Given the description of an element on the screen output the (x, y) to click on. 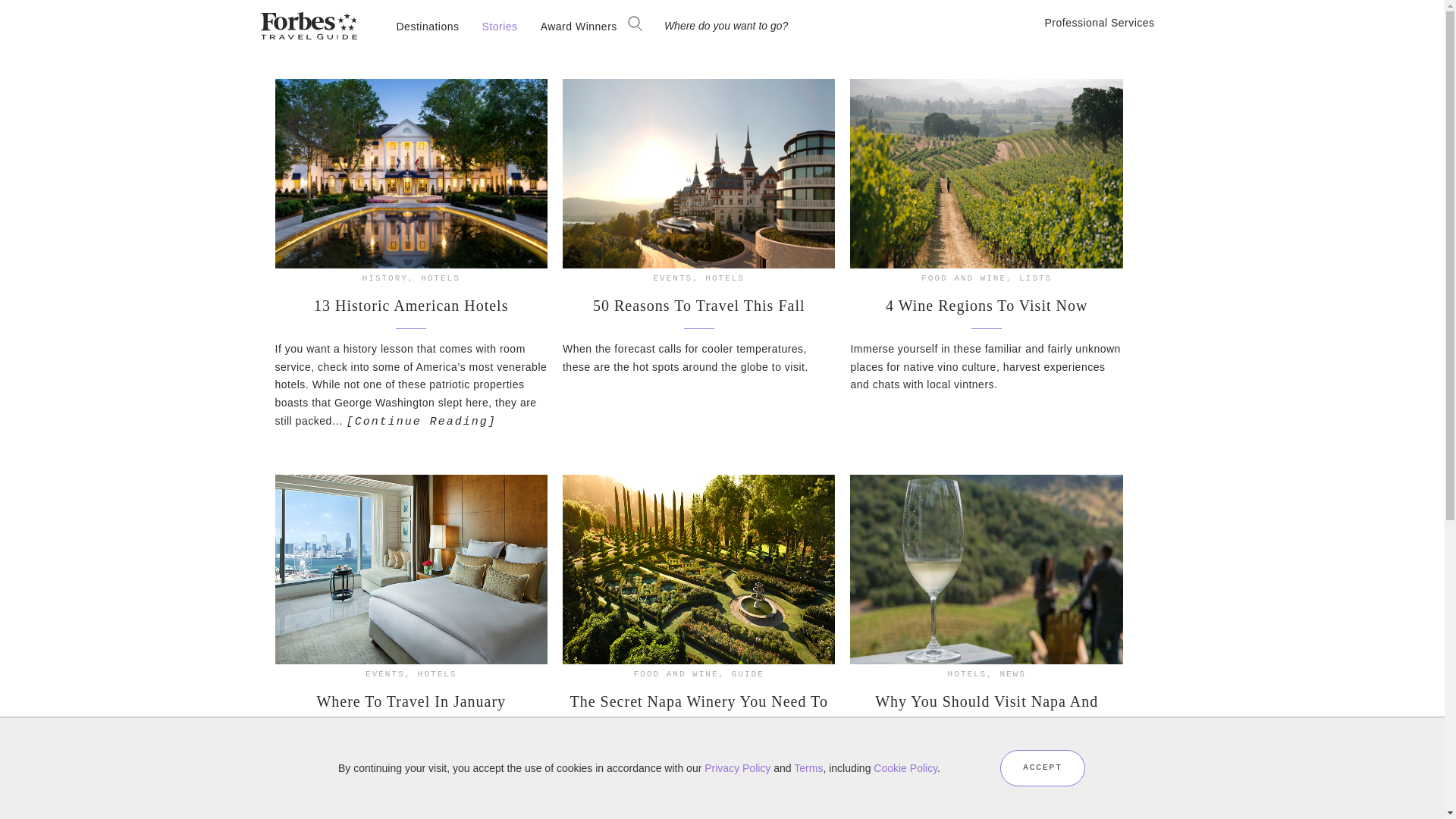
Award Winners (578, 26)
50 Reasons To Travel This Fall (698, 305)
HISTORY (384, 277)
HOTELS (440, 277)
Stories (499, 26)
Destinations (427, 26)
HOTELS (724, 277)
Professional Services (1113, 22)
EVENTS (673, 277)
13 Historic American Hotels (411, 305)
